Given the description of an element on the screen output the (x, y) to click on. 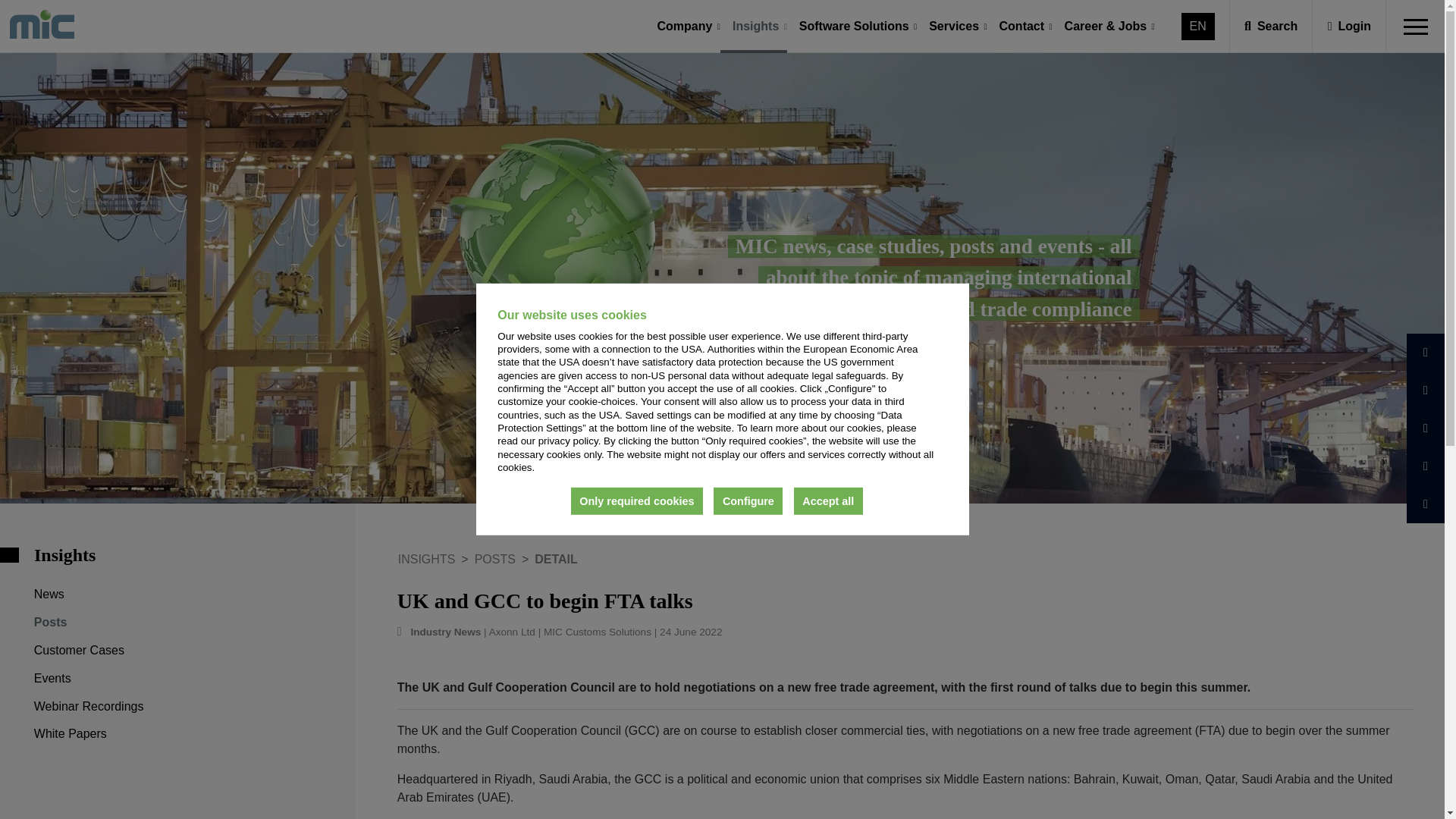
Insights (755, 26)
Company (685, 26)
Software Solutions (854, 26)
Accept all (828, 501)
Contact (1022, 26)
EN (1198, 26)
Services (954, 26)
Only required cookies (636, 501)
Configure (748, 501)
Login (1349, 26)
